Given the description of an element on the screen output the (x, y) to click on. 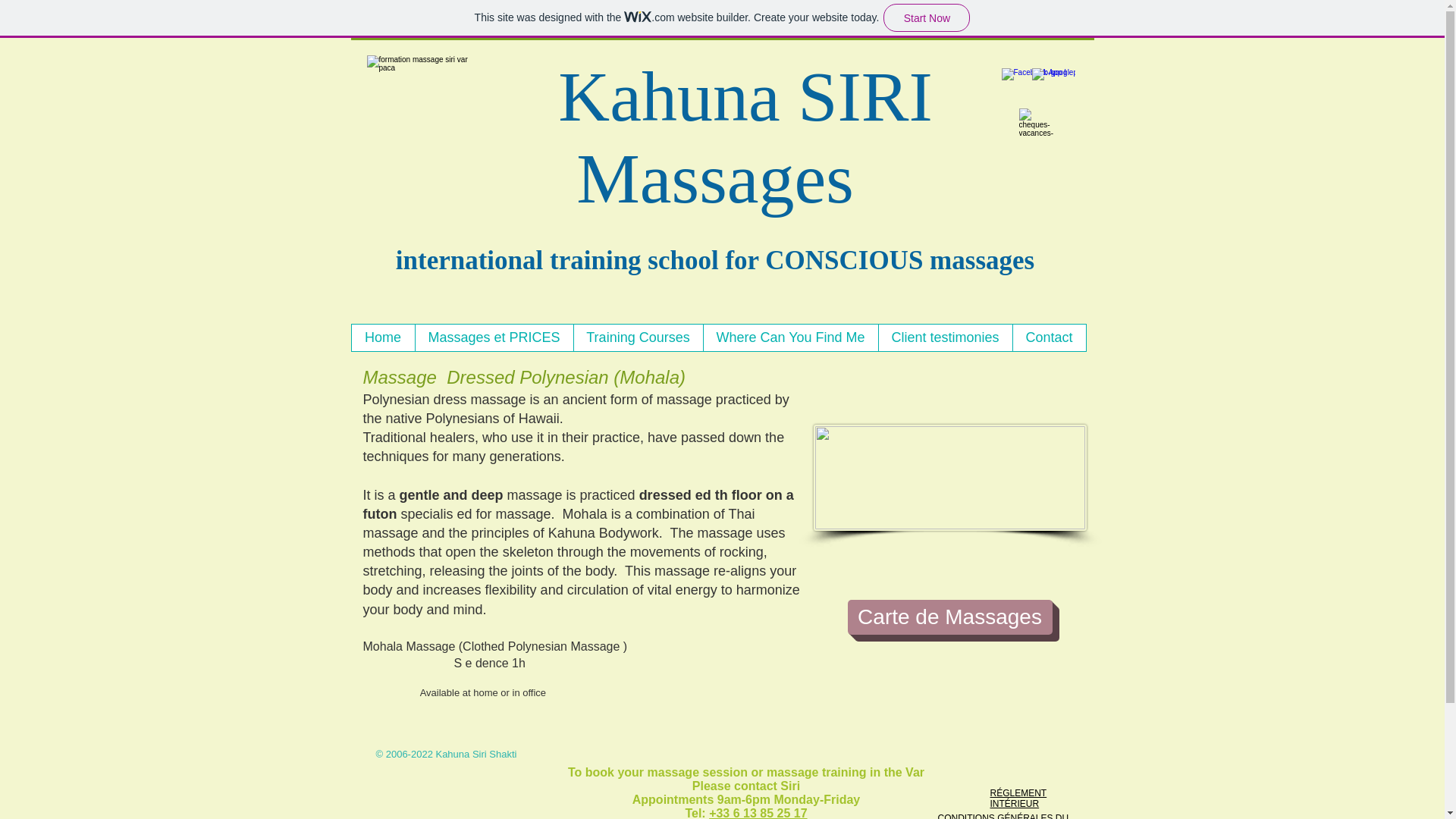
logo siri.png (420, 107)
SIRI (865, 95)
Contact (1047, 337)
Home (383, 337)
Massages et PRICES (492, 337)
Where Can You Find Me (789, 337)
Client testimonies (944, 337)
Massages (714, 177)
Kahuna (667, 95)
Carte de Massages (949, 616)
